Given the description of an element on the screen output the (x, y) to click on. 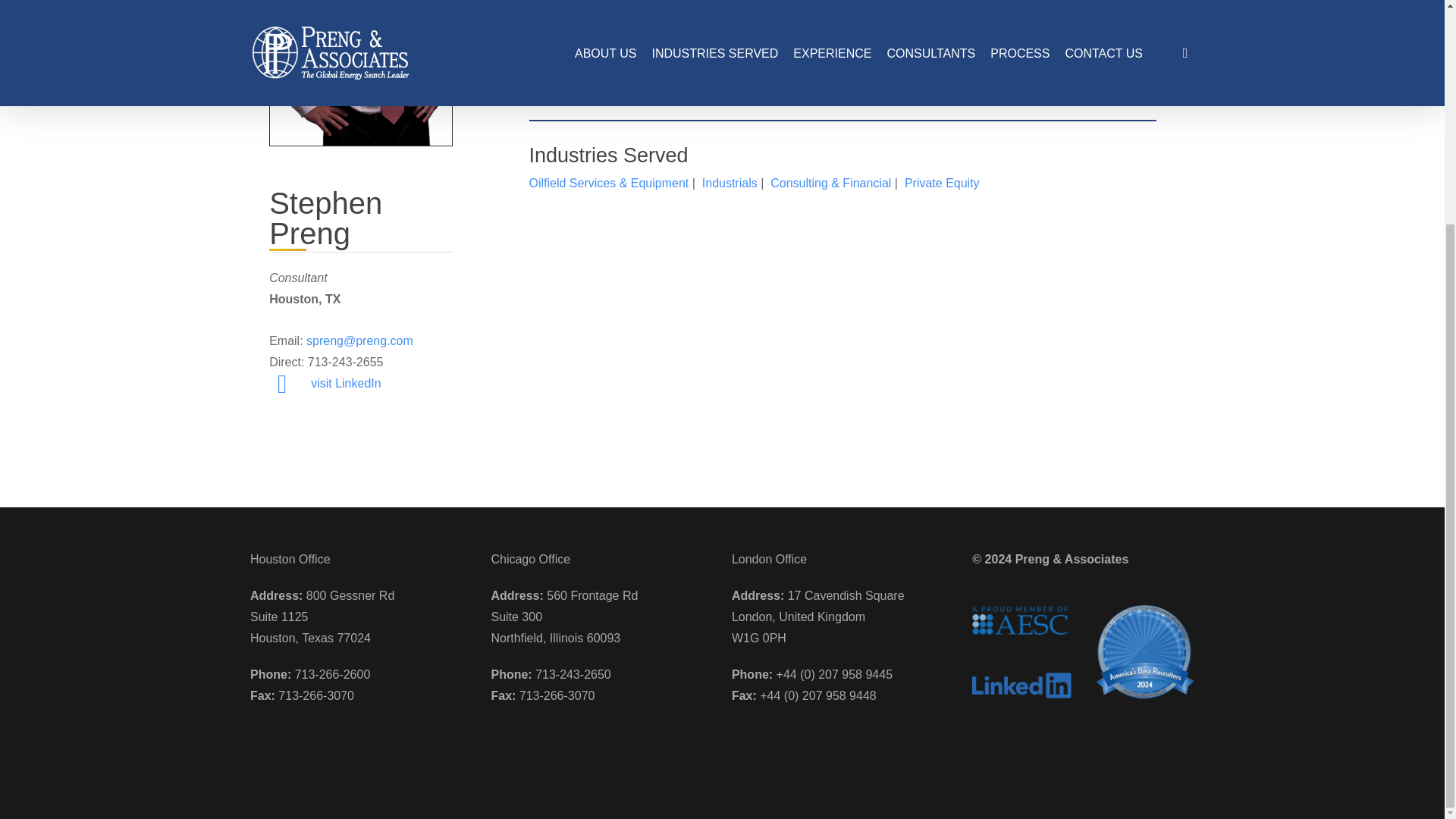
visit LinkedIn (346, 382)
Private Equity (941, 182)
Industrials (729, 182)
